Given the description of an element on the screen output the (x, y) to click on. 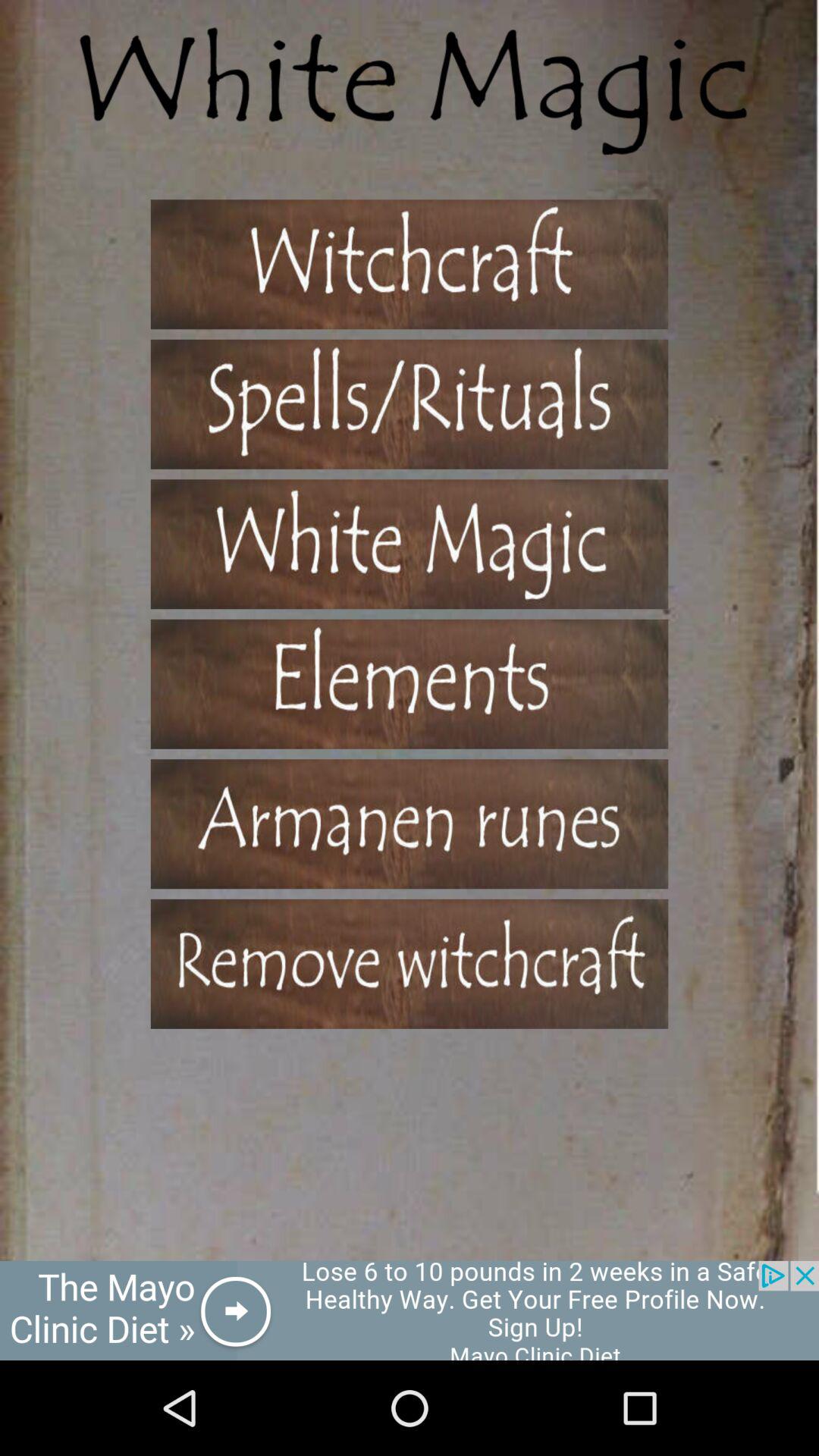
click to view spells/rituals (409, 404)
